Given the description of an element on the screen output the (x, y) to click on. 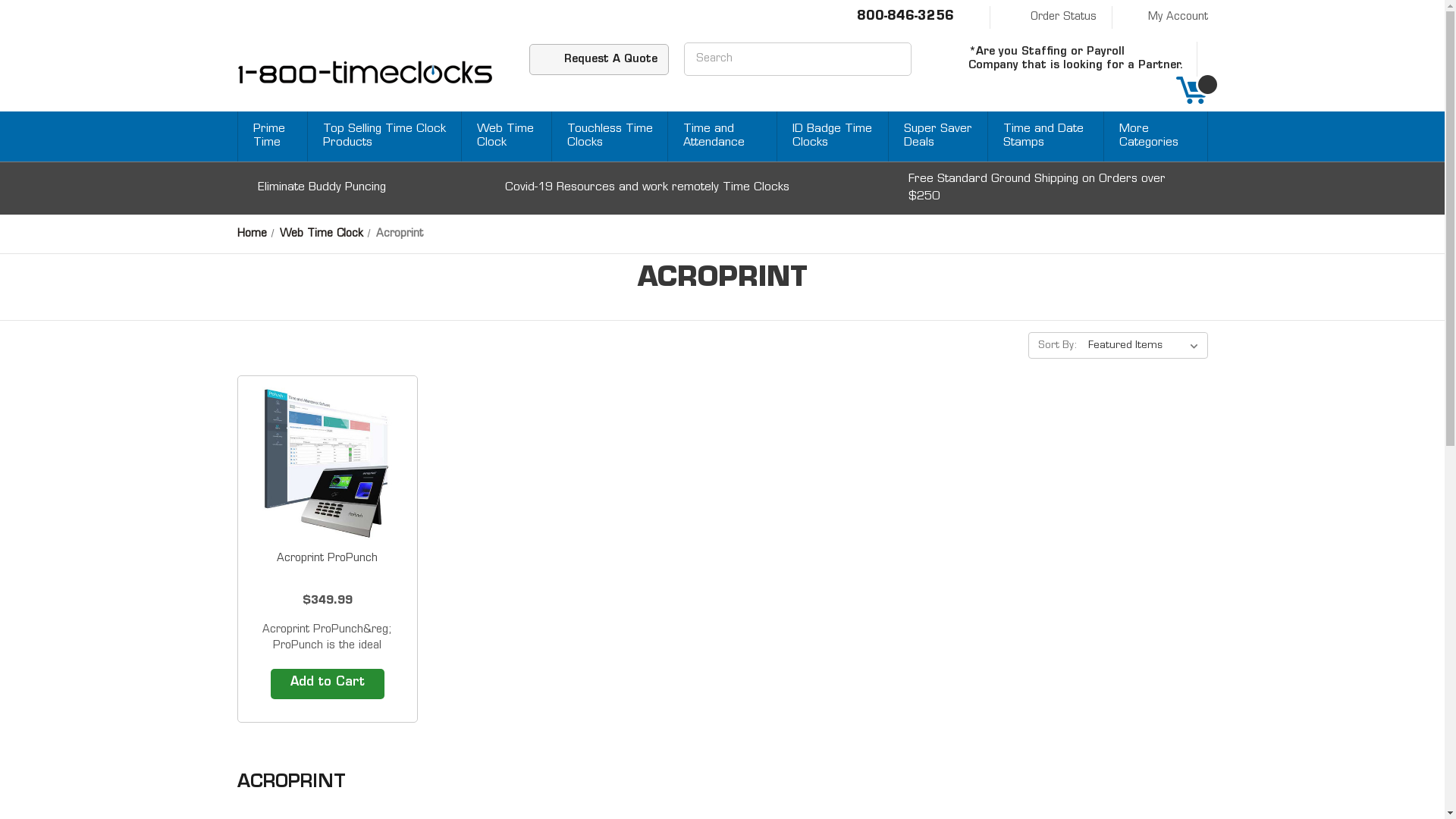
Touchless Time Clocks Element type: text (613, 136)
Top Selling Time Clock Products Element type: text (388, 136)
Search Element type: text (887, 58)
Time and Attendance Element type: text (725, 136)
Request A Quote Element type: text (598, 59)
ID Badge Time Clocks Element type: text (836, 136)
Web Time Clock Element type: text (321, 233)
Home Element type: text (251, 233)
Web Time Clock Element type: text (509, 136)
More Categories Element type: text (1158, 136)
Time and Date Stamps Element type: text (1049, 136)
Super Saver Deals Element type: text (941, 136)
Acroprint ProPunch FPC18 Bundle Element type: hover (326, 461)
Acroprint Element type: text (399, 233)
Prime Time Element type: text (276, 136)
My Account Element type: text (1165, 17)
1800-TIME-CLOCKS Element type: hover (364, 72)
Order Status Element type: text (1048, 17)
Add to Cart Element type: text (326, 683)
Acroprint ProPunch Element type: text (326, 558)
